Given the description of an element on the screen output the (x, y) to click on. 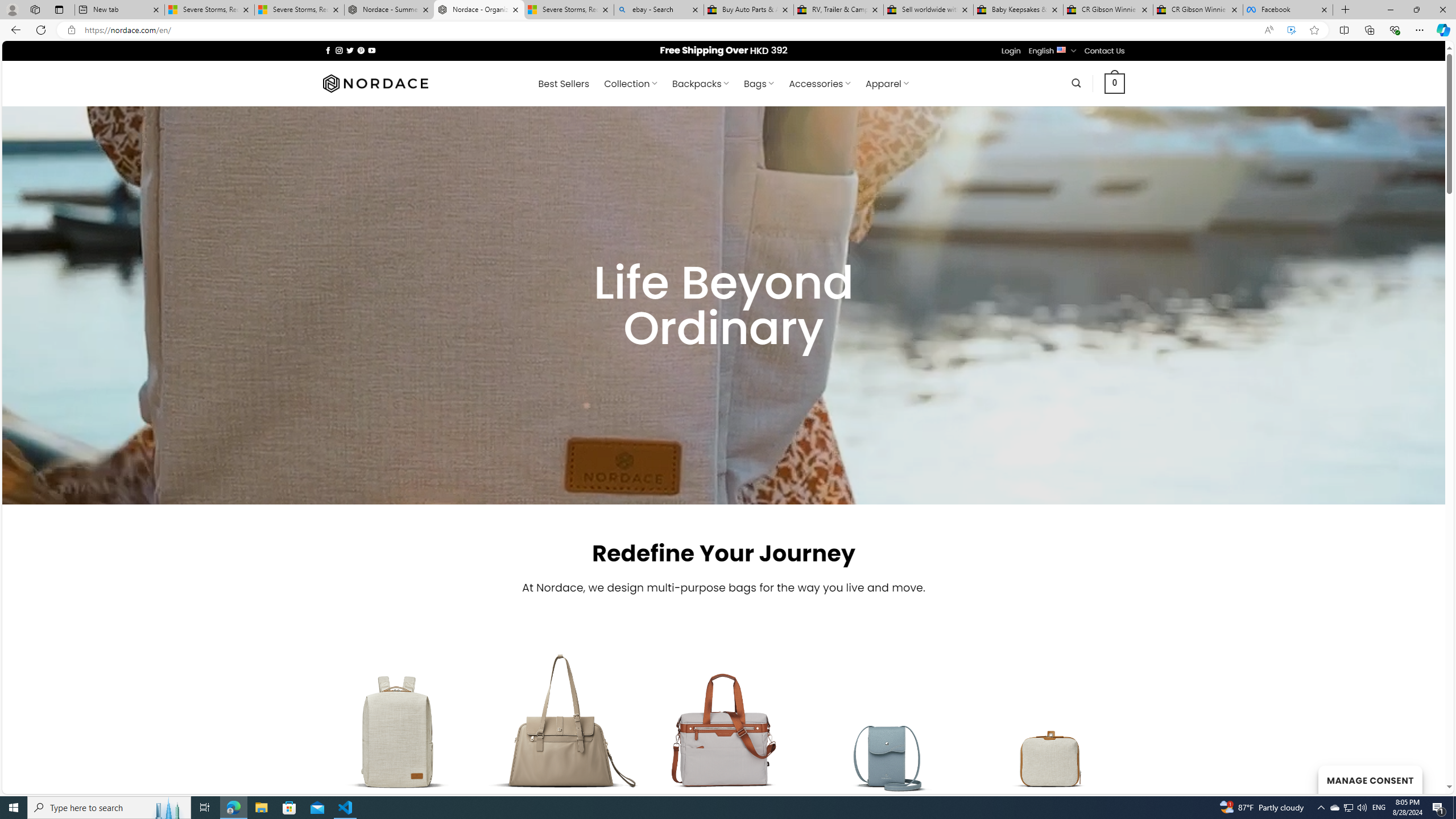
Follow on Instagram (338, 49)
Contact Us (1104, 50)
 Best Sellers (563, 83)
Baby Keepsakes & Announcements for sale | eBay (1018, 9)
Sell worldwide with eBay (928, 9)
English (1061, 49)
